Given the description of an element on the screen output the (x, y) to click on. 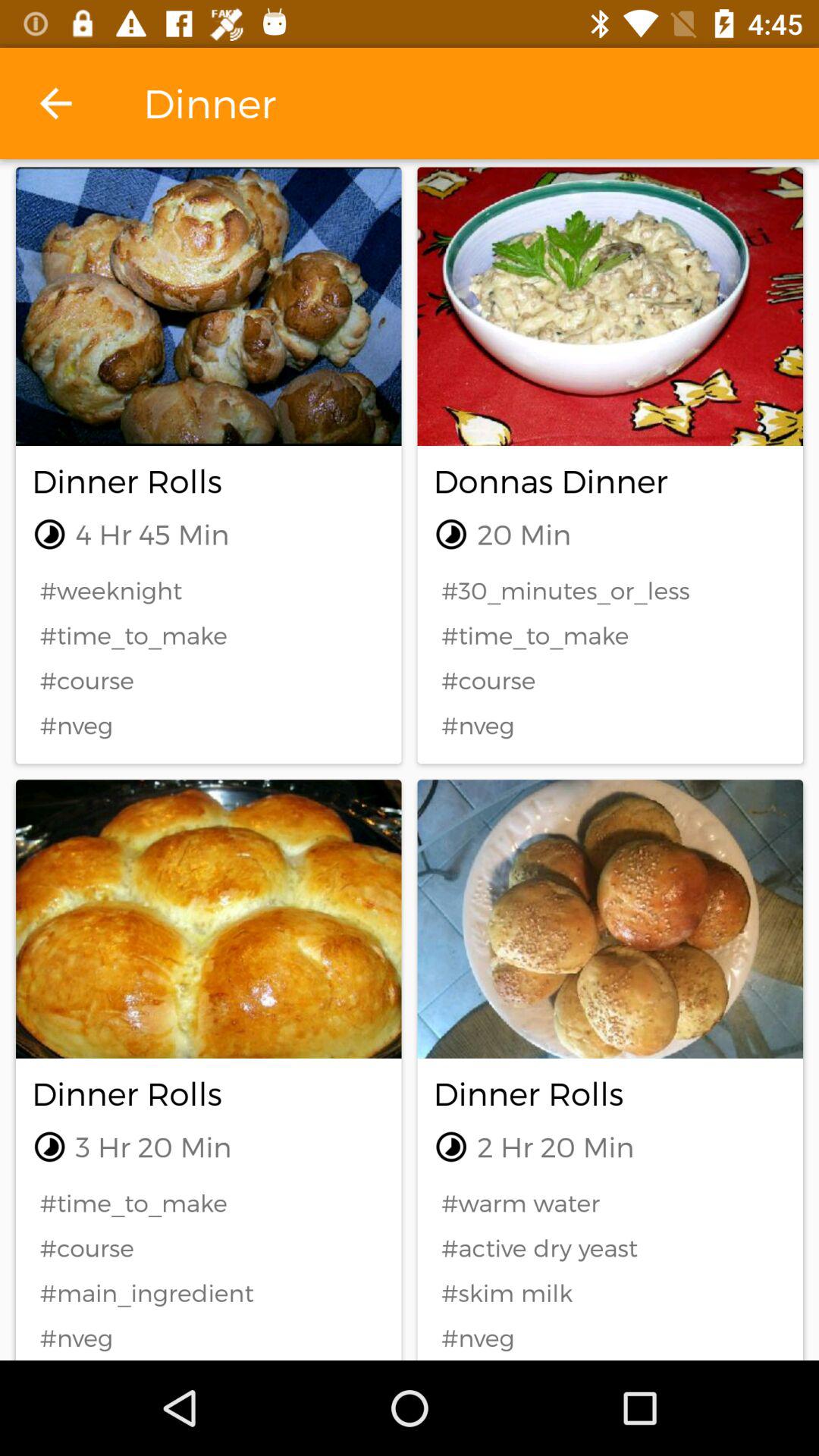
click the icon next to #time_to_make (610, 1247)
